Given the description of an element on the screen output the (x, y) to click on. 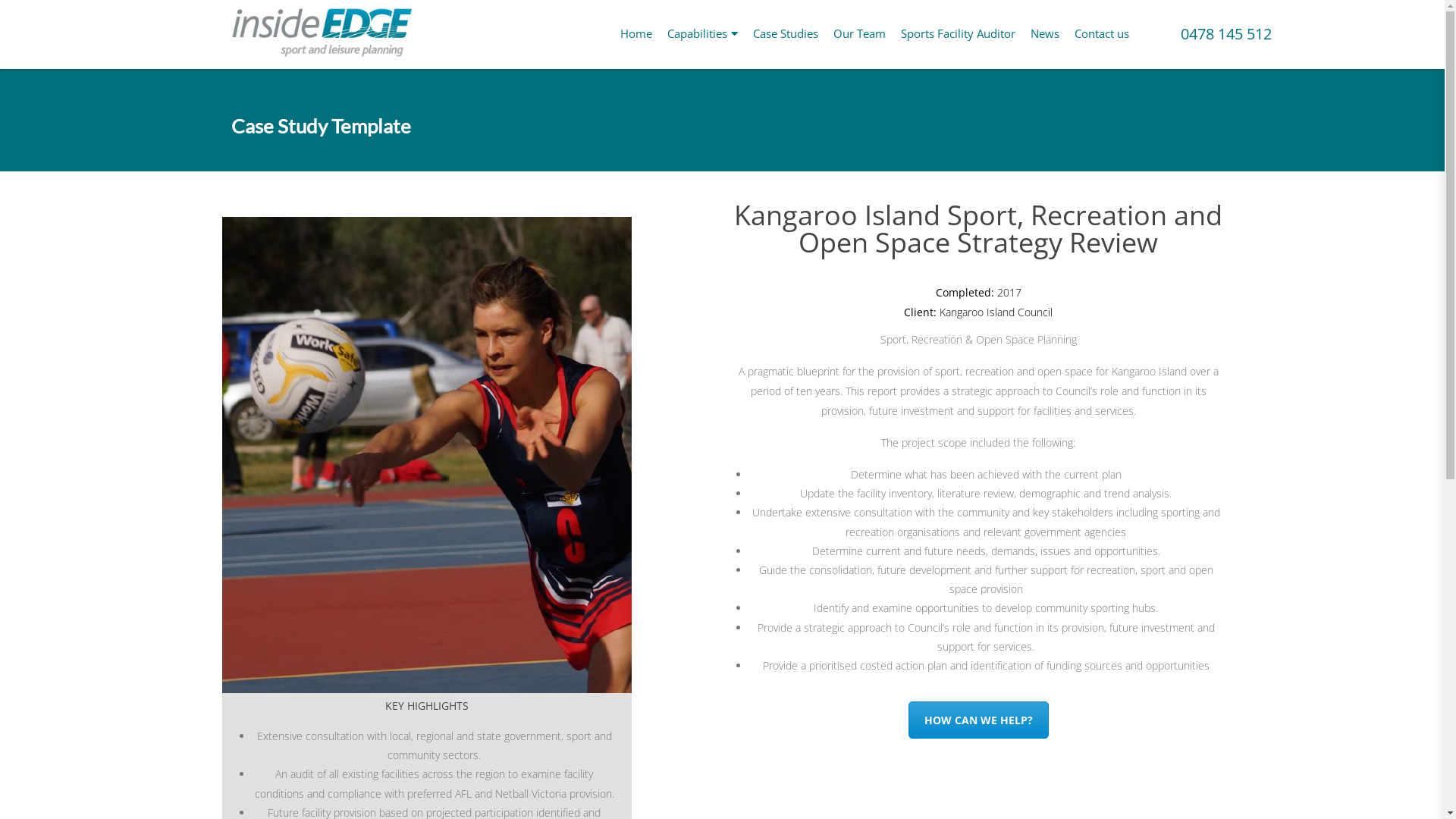
Case Studies Element type: text (784, 33)
Sports Facility Auditor Element type: text (957, 33)
Capabilities Element type: text (702, 33)
News Element type: text (1043, 33)
Our Team Element type: text (858, 33)
0478 145 512 Element type: text (1224, 34)
Girl Playing Netball Element type: hover (425, 454)
Contact us Element type: text (1100, 33)
Home Element type: text (636, 33)
HOW CAN WE HELP? Element type: text (978, 719)
